Given the description of an element on the screen output the (x, y) to click on. 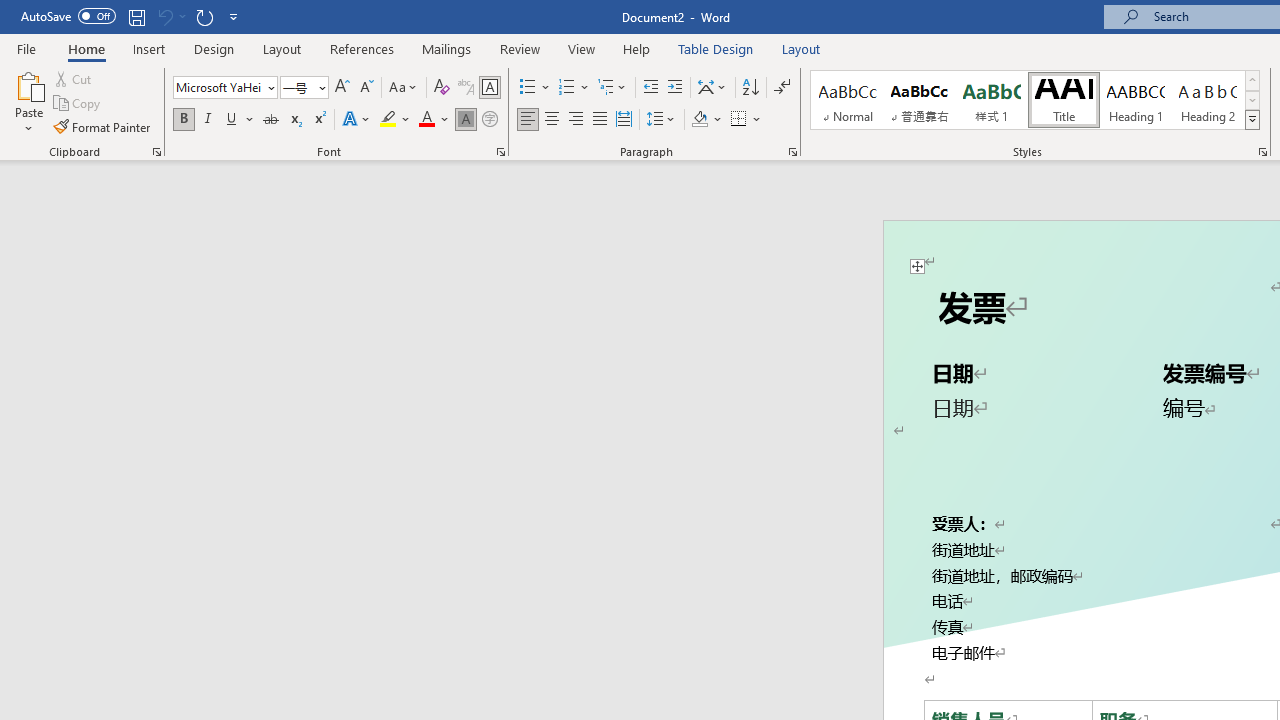
Design (214, 48)
Open (320, 87)
Borders (746, 119)
Format Painter (103, 126)
Styles (1252, 120)
Font Color (434, 119)
File Tab (26, 48)
Font Color RGB(255, 0, 0) (426, 119)
Font Size (304, 87)
Align Right (575, 119)
Mailings (447, 48)
Underline (232, 119)
Distributed (623, 119)
